Given the description of an element on the screen output the (x, y) to click on. 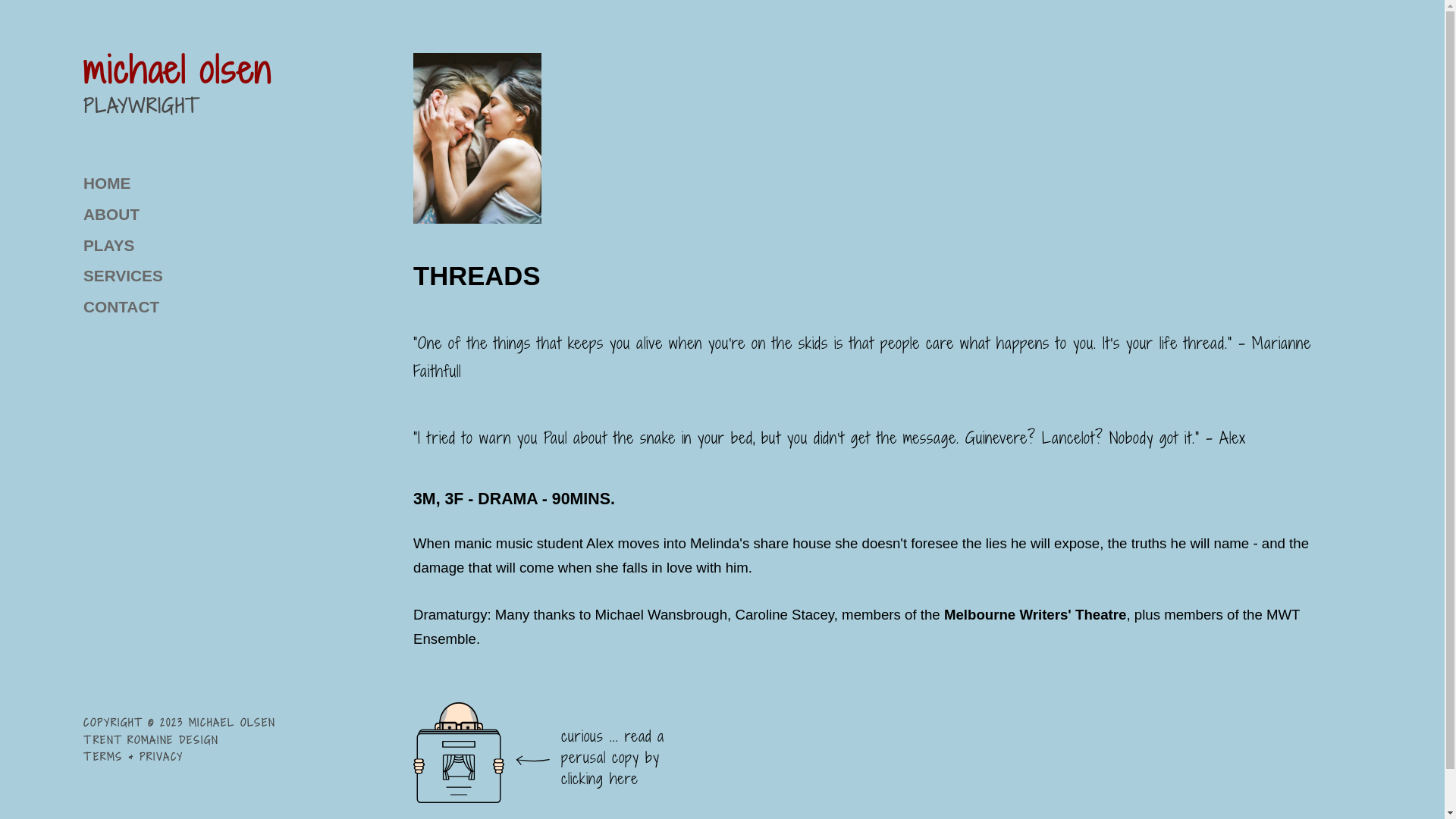
HOME Element type: text (248, 183)
PLAYS Element type: text (248, 244)
ABOUT Element type: text (248, 214)
PRIVACY Element type: text (161, 756)
Melbourne Writers' Theatre Element type: text (1035, 602)
TRENT ROMAINE DESIGN Element type: text (150, 739)
michael olsen Element type: text (177, 69)
TERMS Element type: text (102, 756)
SERVICES Element type: text (248, 275)
CONTACT Element type: text (248, 306)
